Given the description of an element on the screen output the (x, y) to click on. 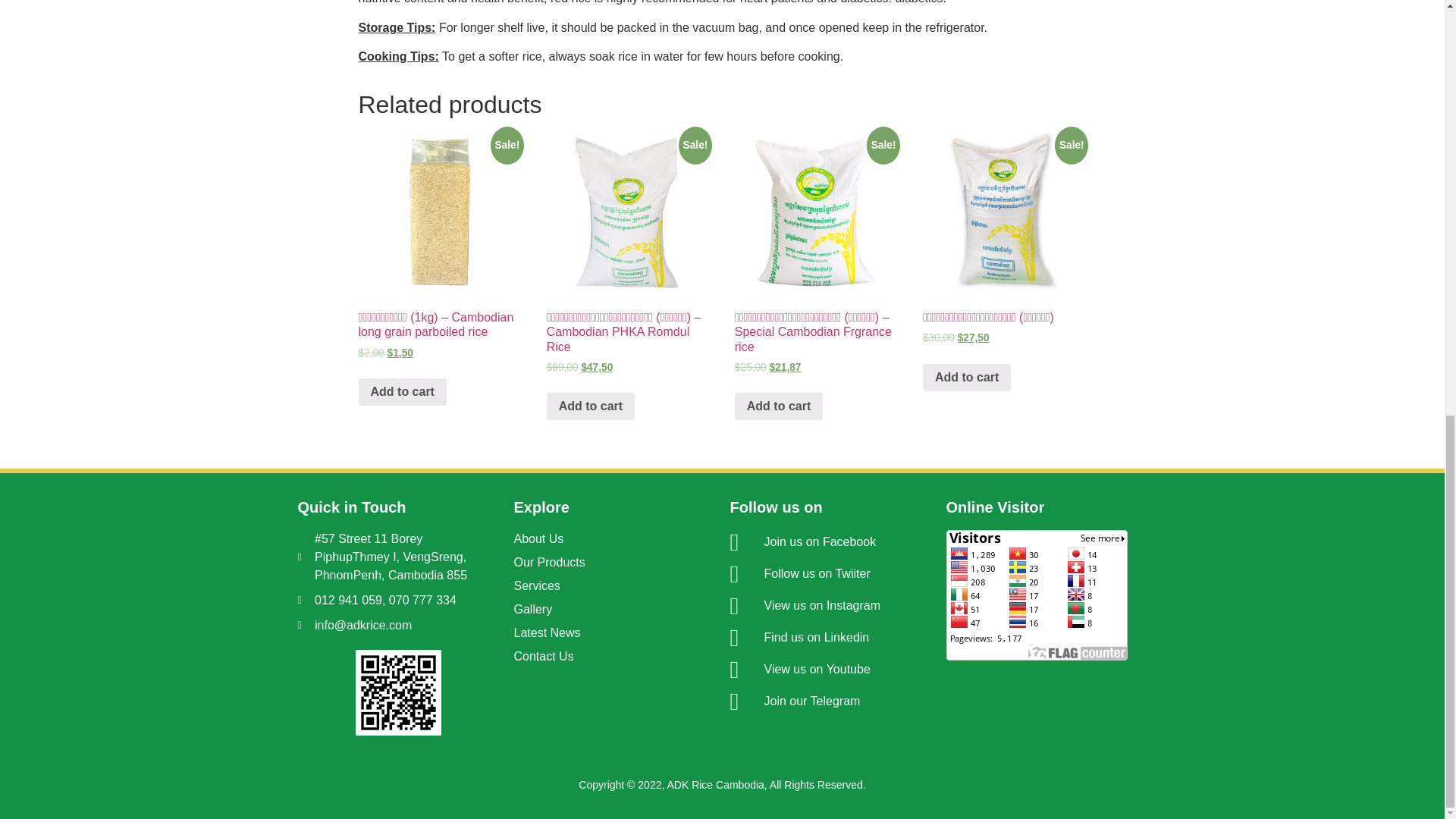
Add to cart (401, 391)
Add to cart (590, 406)
